Given the description of an element on the screen output the (x, y) to click on. 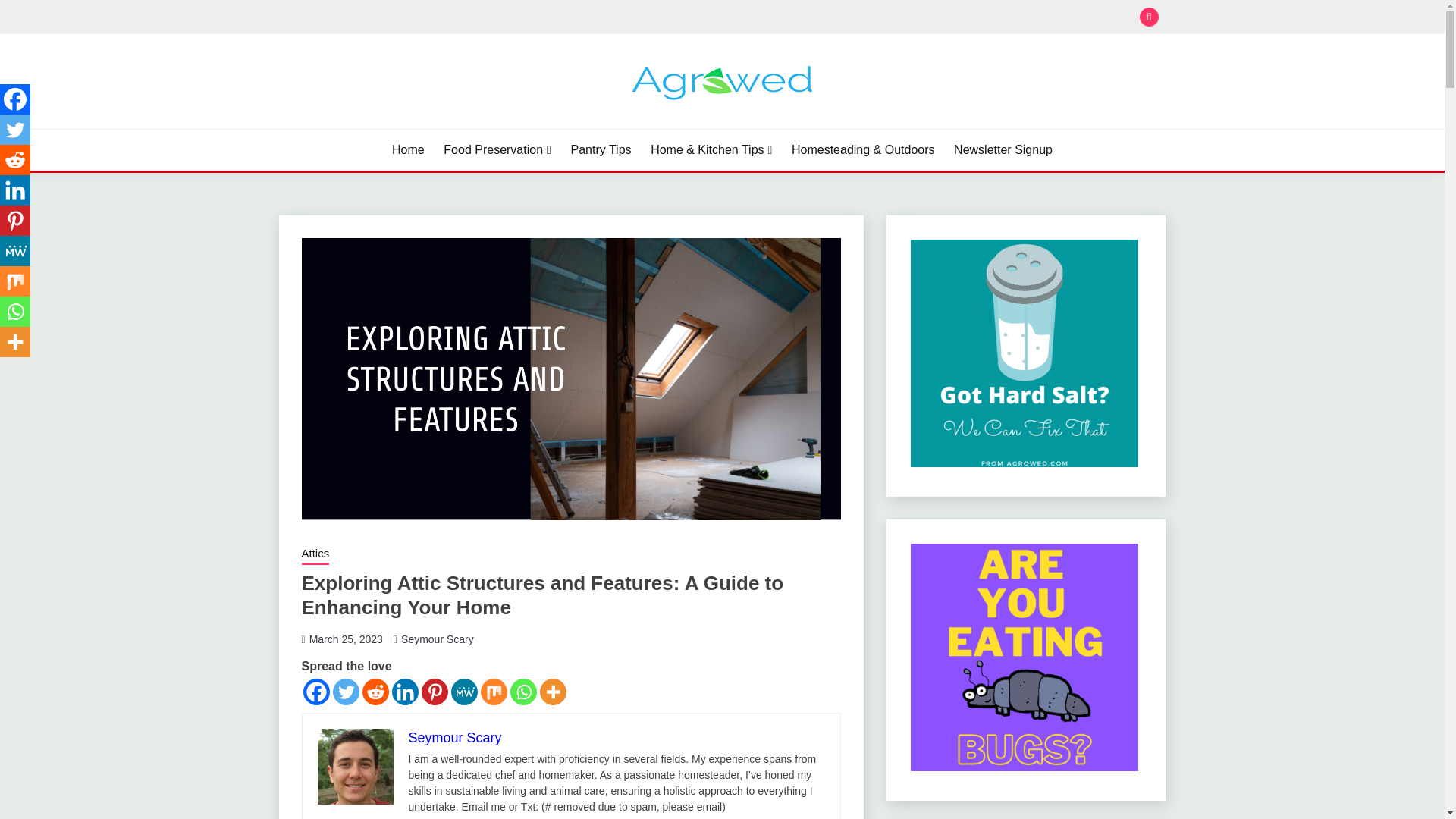
Facebook (15, 99)
Mix (493, 691)
Whatsapp (522, 691)
Seymour Scary (437, 639)
More (553, 691)
March 25, 2023 (345, 639)
Pinterest (435, 691)
Home (408, 149)
Linkedin (15, 190)
Search (832, 18)
